Given the description of an element on the screen output the (x, y) to click on. 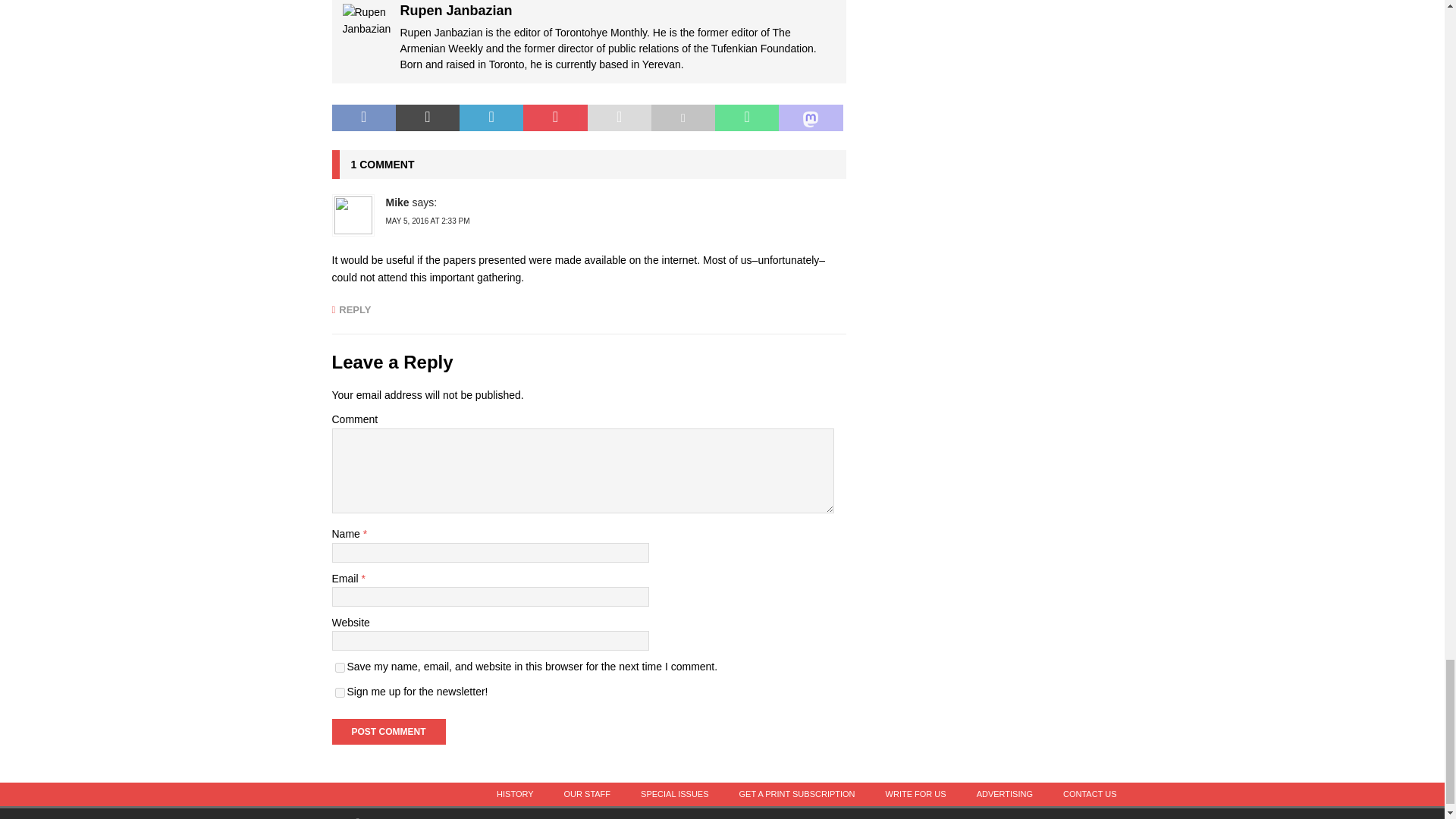
1 (339, 692)
yes (339, 667)
Post Comment (388, 731)
